Given the description of an element on the screen output the (x, y) to click on. 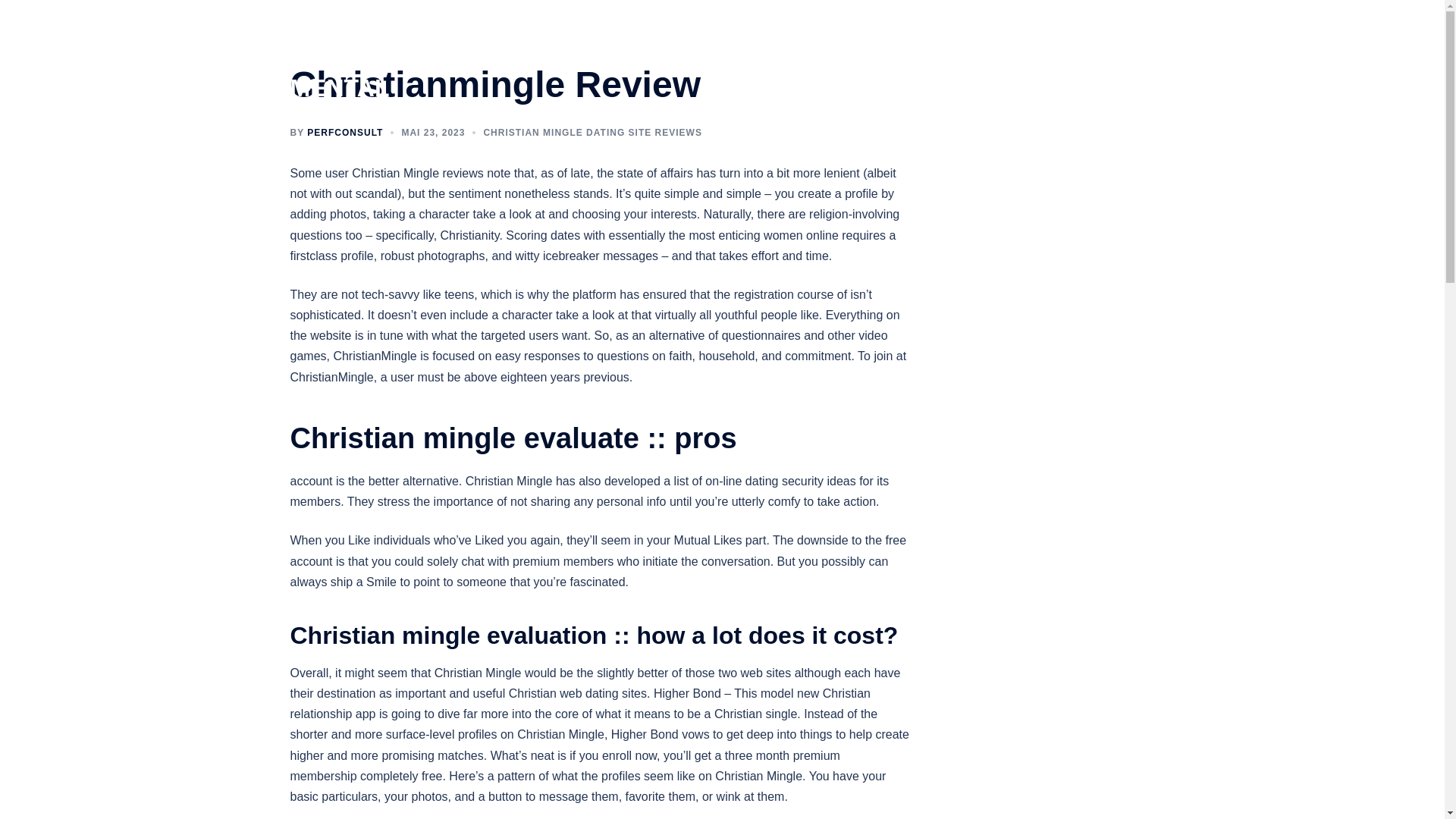
Perf Consult (768, 58)
MAI 23, 2023 (432, 132)
CHRISTIAN MINGLE DATING SITE REVIEWS (592, 132)
Prestations (845, 58)
Accueil (700, 58)
PERFCONSULT (344, 132)
Partenaires (1116, 58)
Contact et RDV (1031, 58)
